Given the description of an element on the screen output the (x, y) to click on. 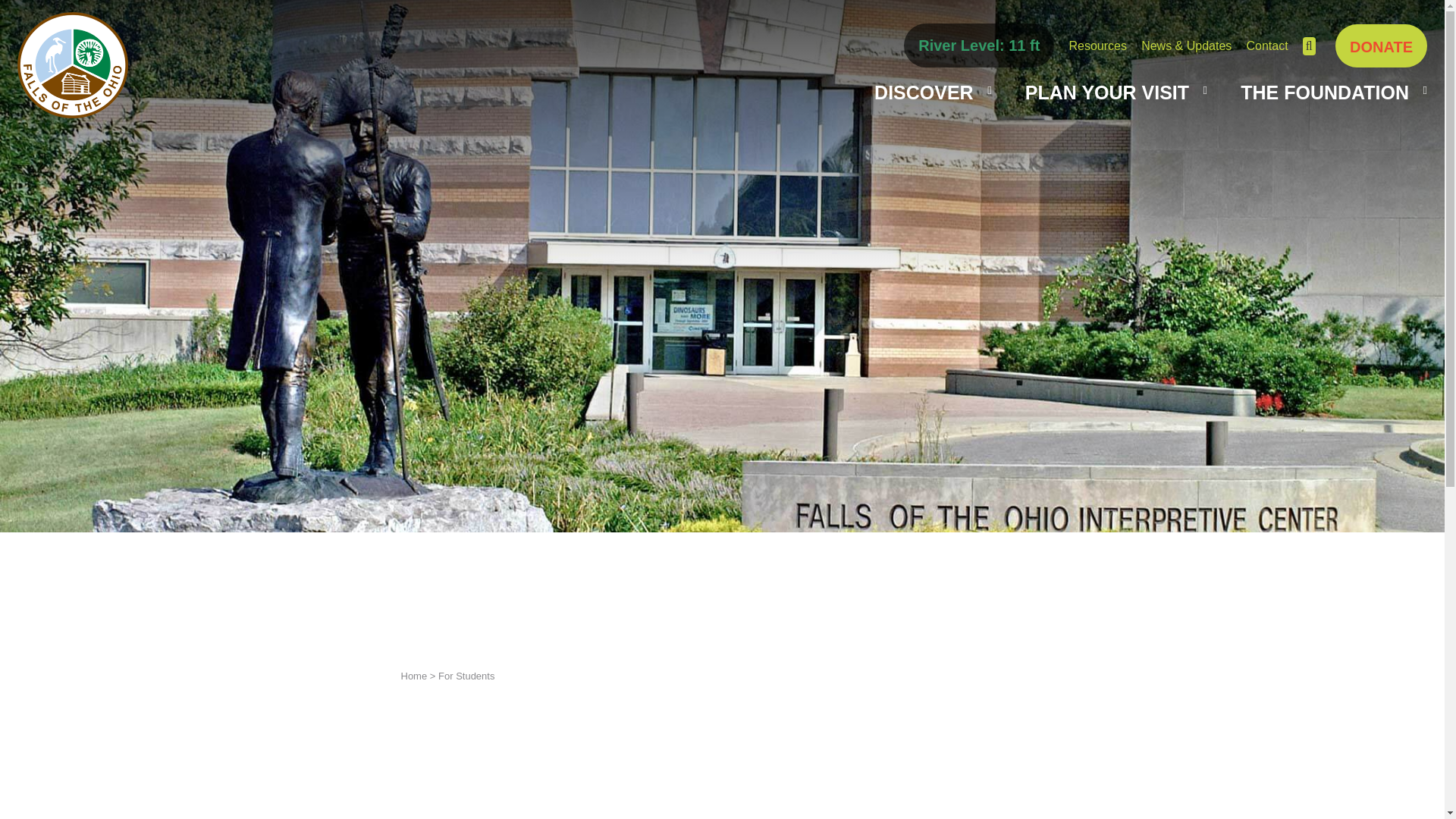
THE FOUNDATION (1324, 92)
Current river conditions (978, 45)
Contact (1267, 45)
Plan Your Visit (1107, 92)
Falls of the Ohio (72, 64)
DISCOVER (924, 92)
The Foundation (1324, 92)
DONATE (1380, 45)
PLAN YOUR VISIT (1107, 92)
River Level: 11 ft (978, 45)
Go to Falls of the Ohio. (413, 675)
Resources (1096, 45)
Discover (924, 92)
